Given the description of an element on the screen output the (x, y) to click on. 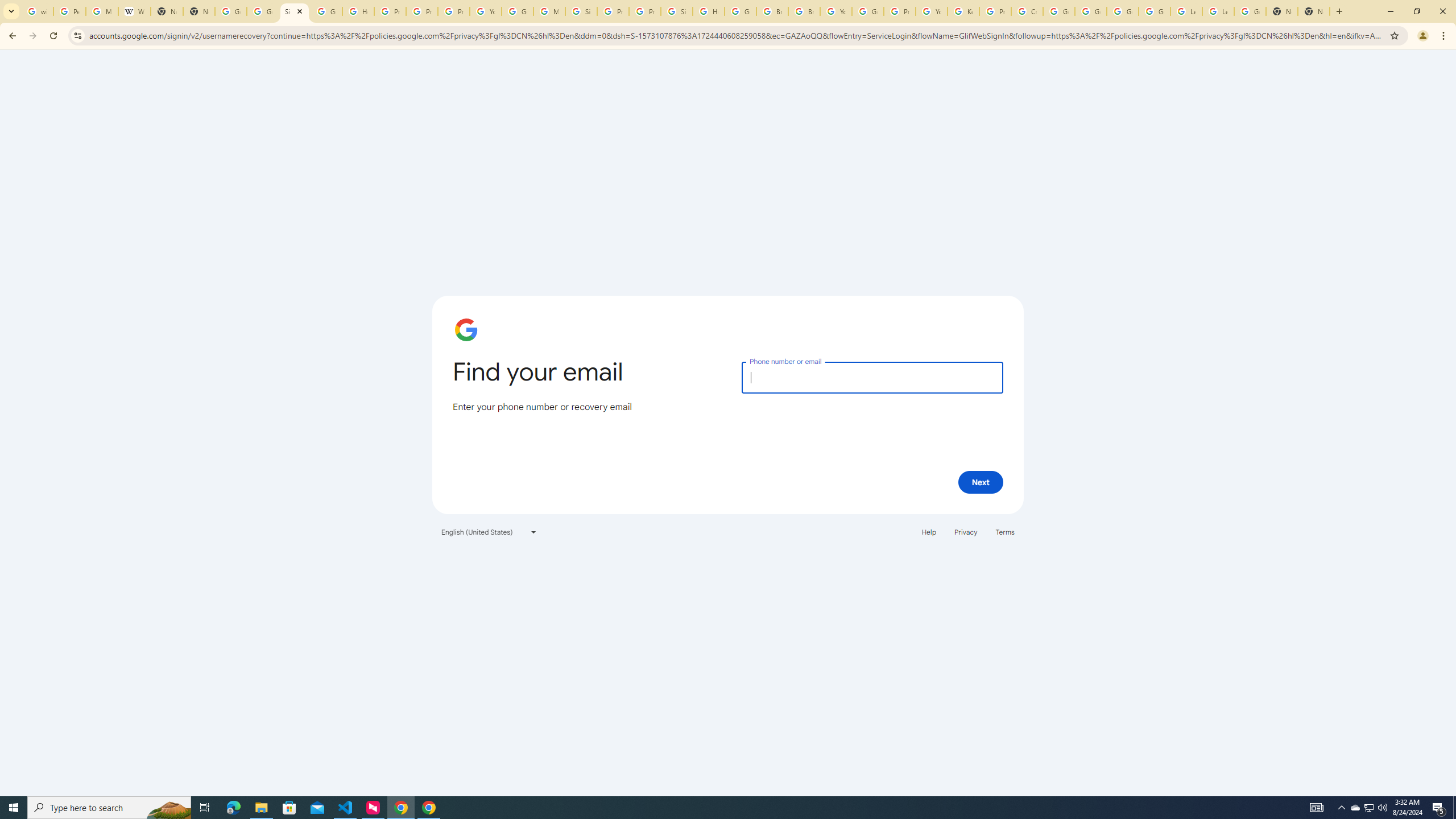
Sign in - Google Accounts (294, 11)
